Given the description of an element on the screen output the (x, y) to click on. 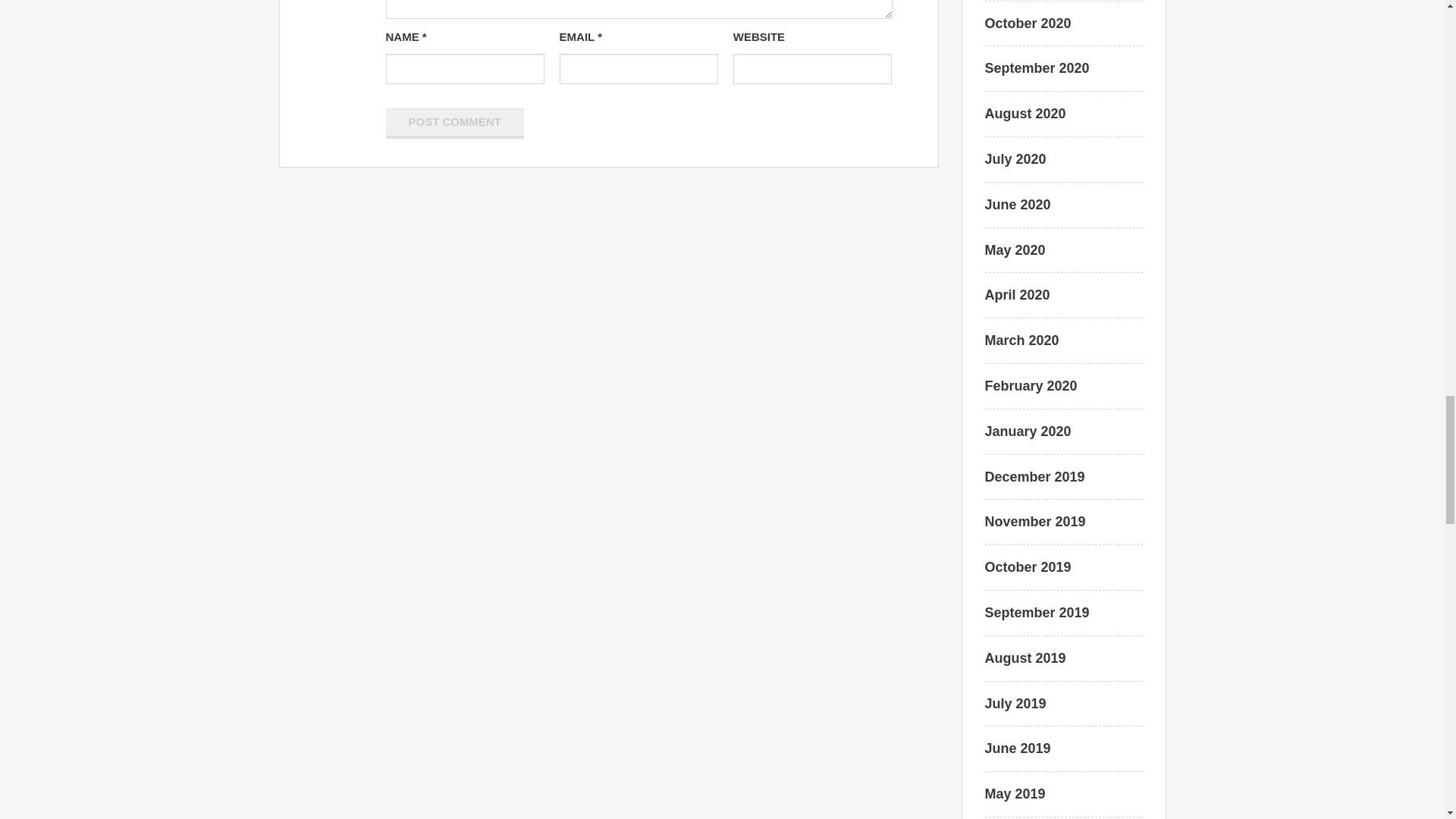
Post Comment (454, 123)
